Given the description of an element on the screen output the (x, y) to click on. 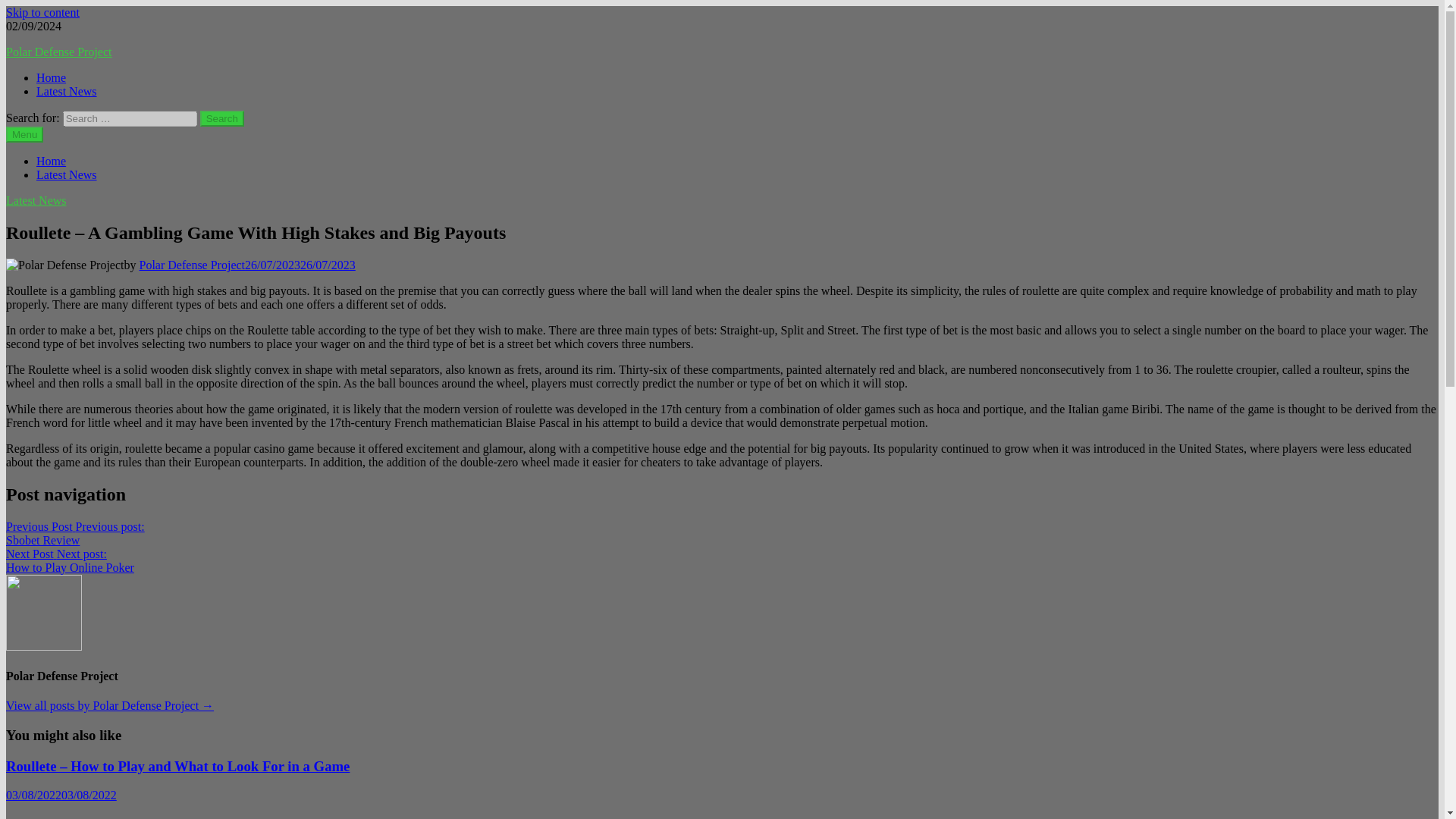
Home (50, 160)
Search (222, 118)
Latest News (66, 174)
Polar Defense Project (109, 705)
The Mobile Gambling Game (69, 560)
Skip to content (74, 533)
Menu (92, 817)
Latest News (42, 11)
